Given the description of an element on the screen output the (x, y) to click on. 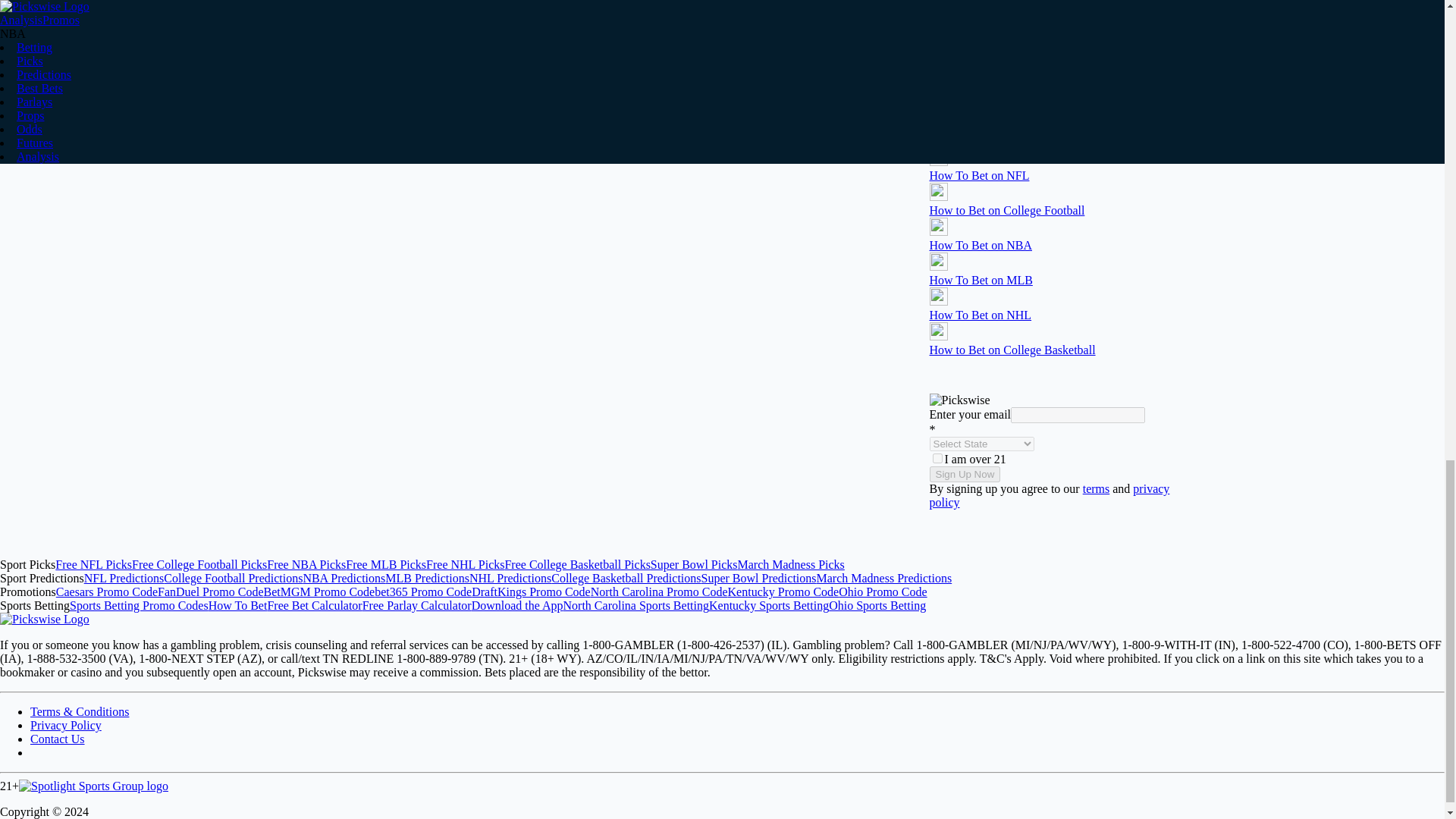
I am over 21 (937, 458)
